Given the description of an element on the screen output the (x, y) to click on. 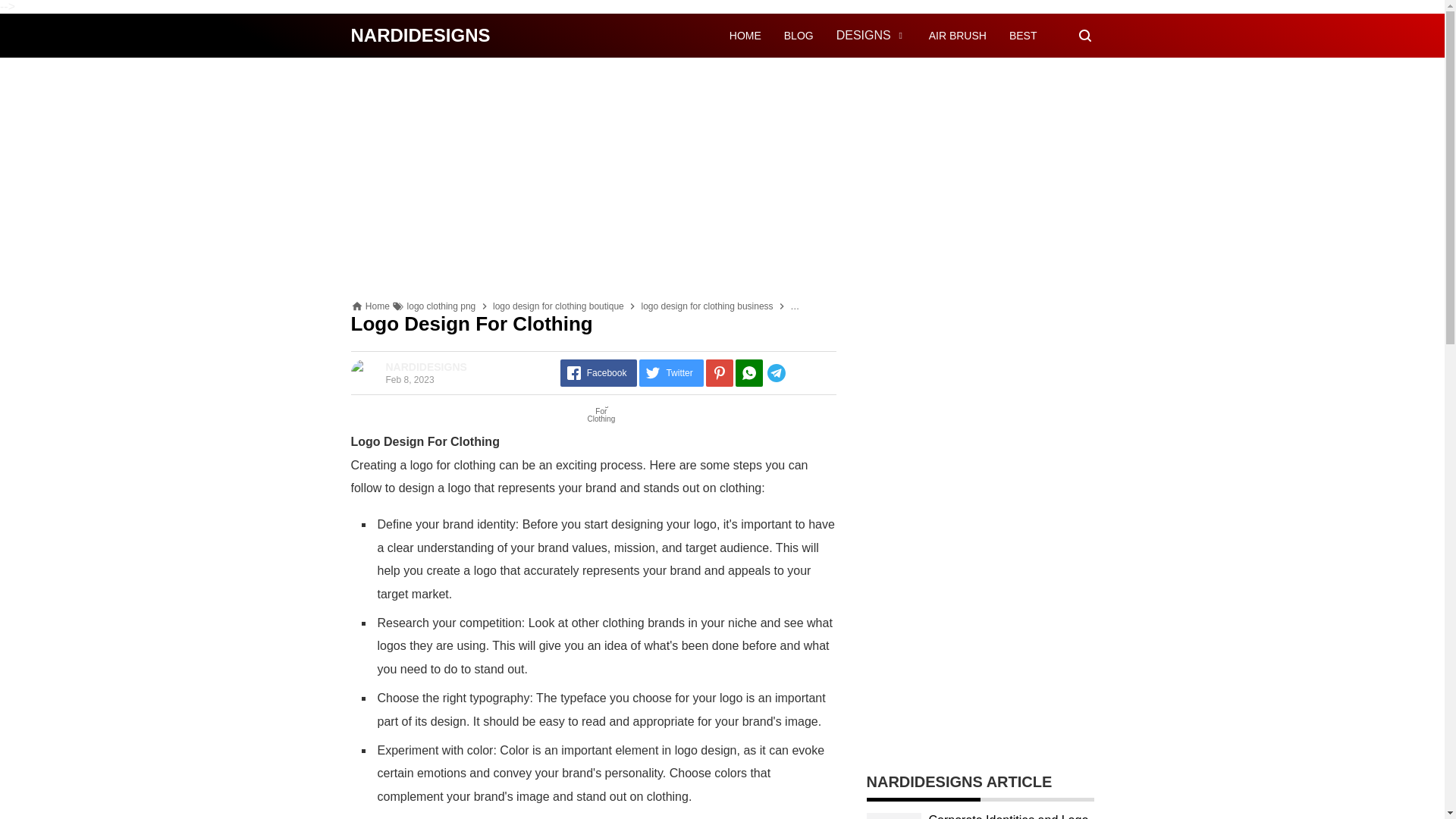
Twitter (671, 372)
BLOG (798, 35)
logo design for clothing free (845, 306)
NARDIDESIGNS (419, 35)
Logo Design For Clothing (592, 418)
Home (377, 306)
AIR BRUSH (957, 35)
logo design for clothing boutique (558, 306)
Telegram (798, 372)
BEST (1022, 35)
